Given the description of an element on the screen output the (x, y) to click on. 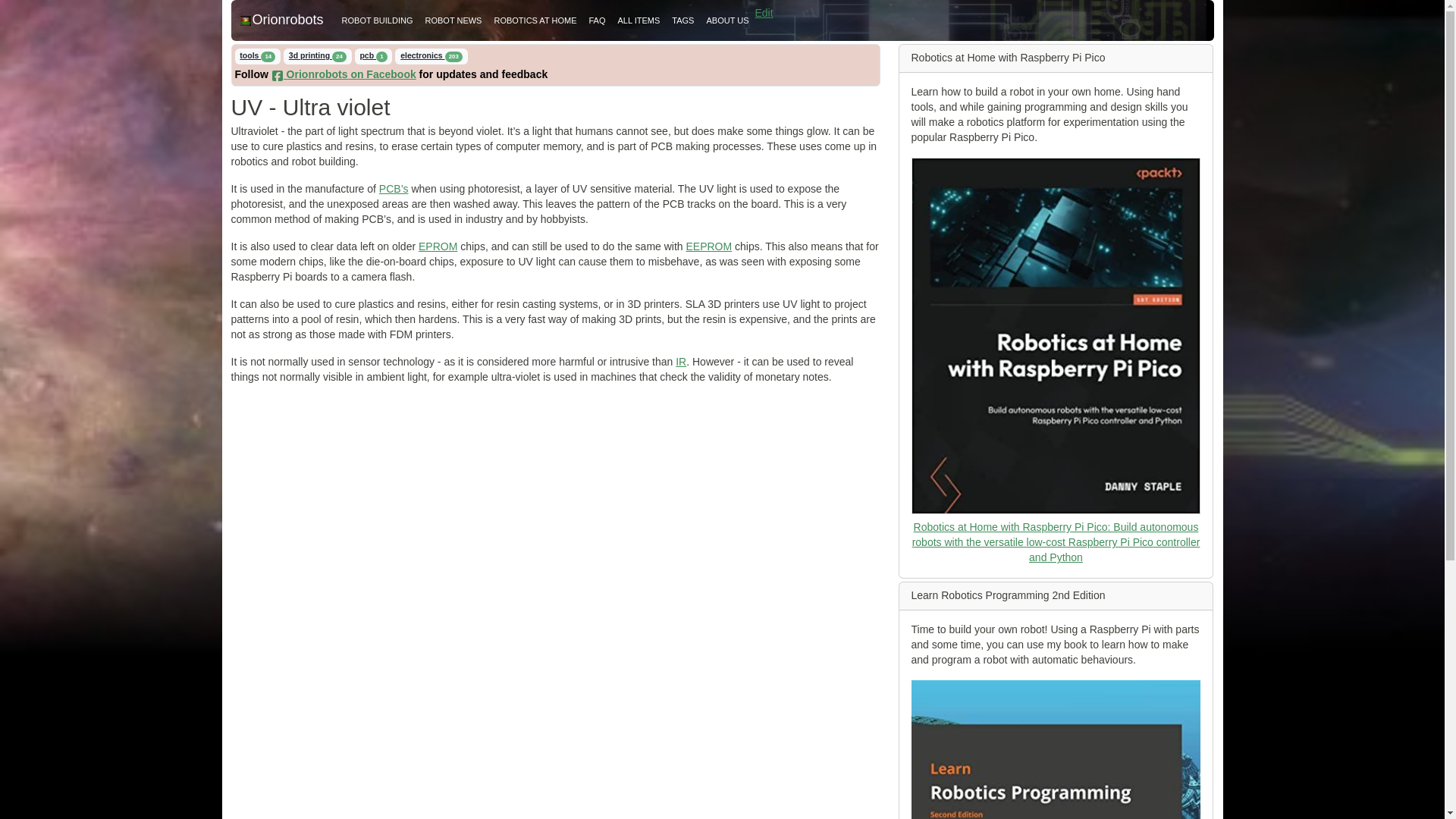
tools 14 (257, 56)
Orionrobots (281, 20)
EEPROM (708, 246)
Printed Circuit Board (393, 188)
pcb 1 (374, 56)
ALL ITEMS (638, 20)
Erasable Programmable Rom (438, 246)
Home (281, 20)
Edit (764, 12)
